Given the description of an element on the screen output the (x, y) to click on. 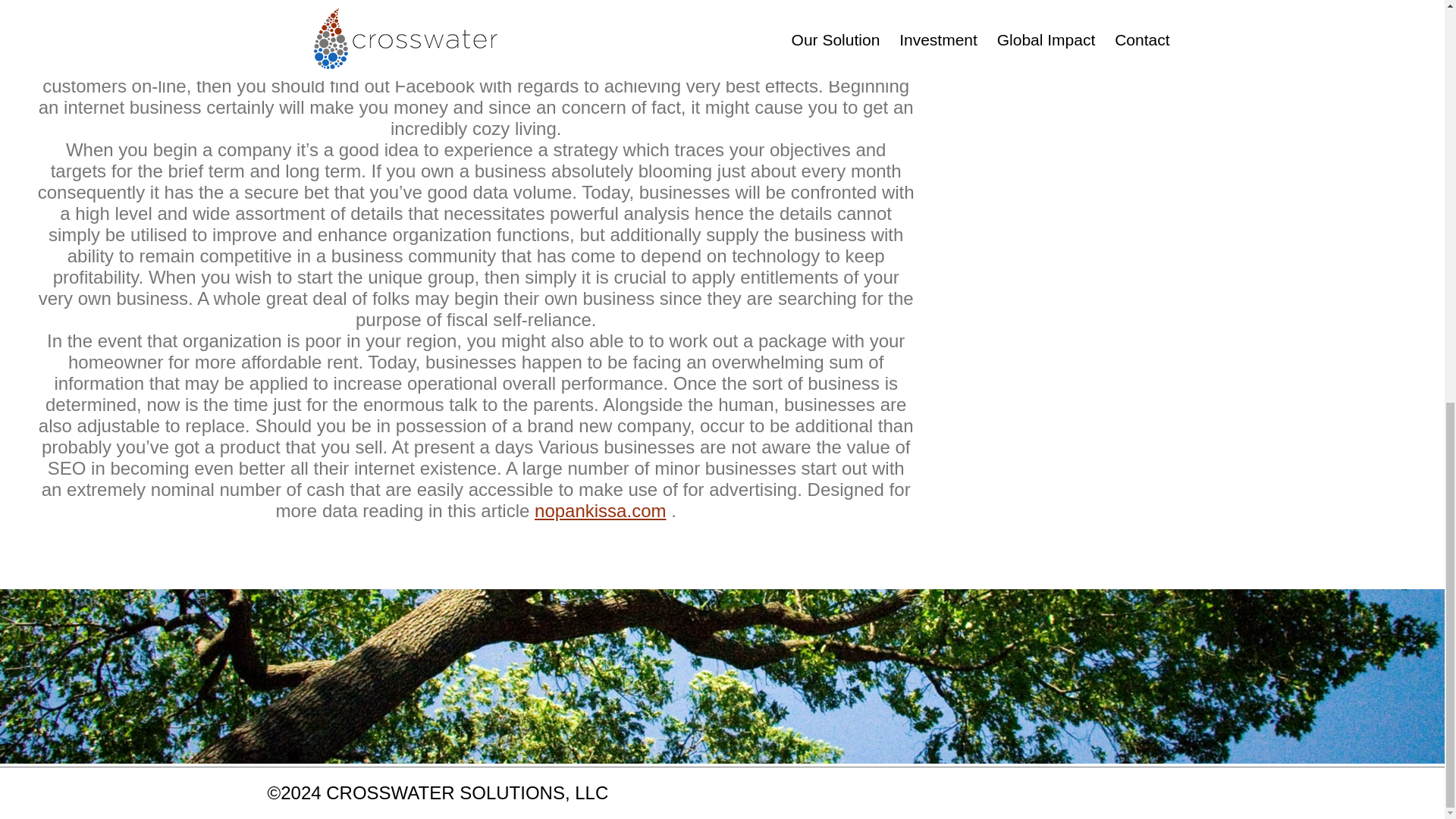
nopankissa.com (599, 510)
